Given the description of an element on the screen output the (x, y) to click on. 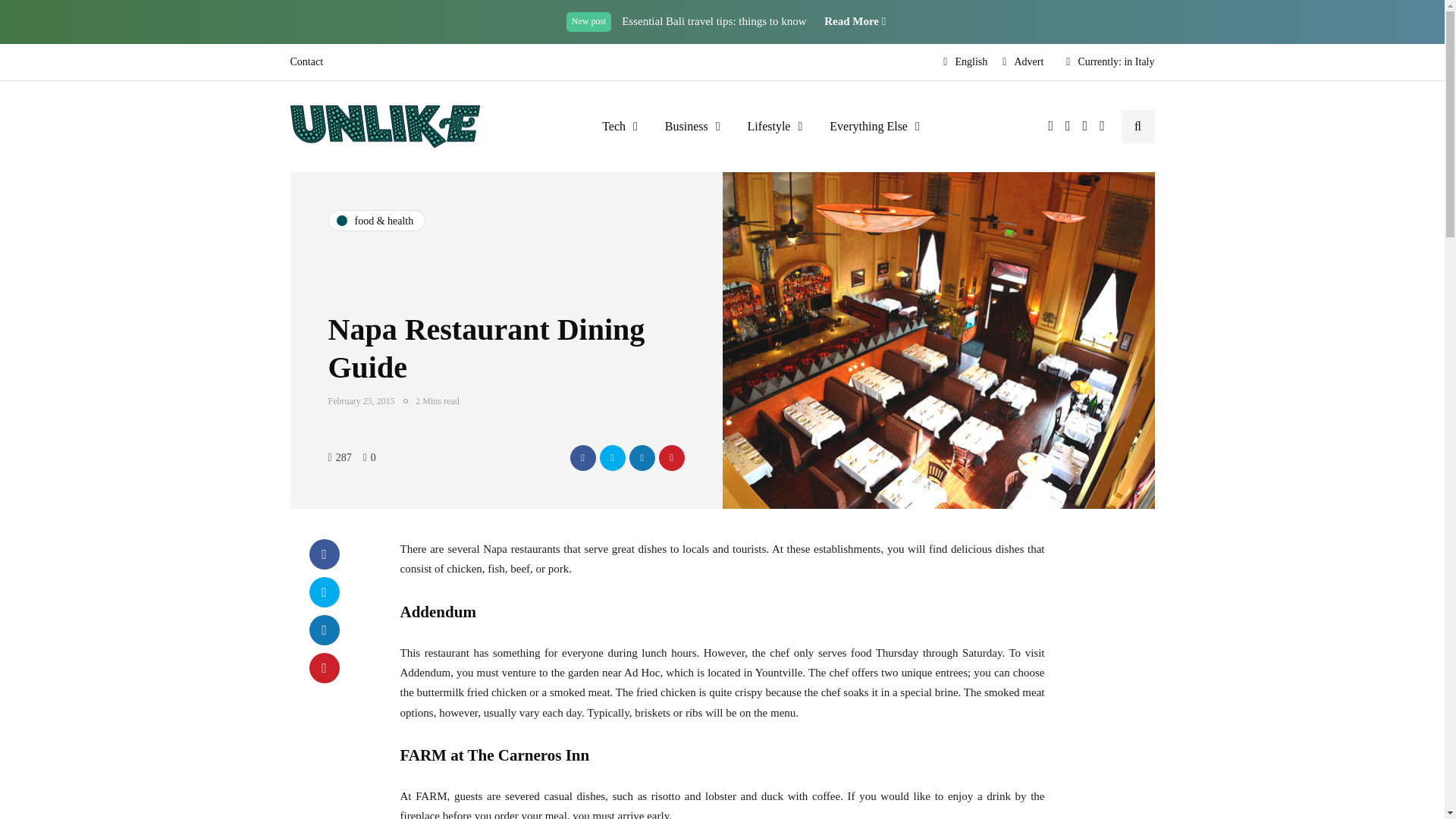
Advert (1022, 62)
Share with LinkedIn (641, 457)
Share with Facebook (323, 553)
Business (691, 126)
Tech (619, 126)
Share with LinkedIn (323, 630)
English (965, 62)
Tweet this (323, 592)
Tweet this (611, 457)
Pin this (323, 667)
Lifestyle (774, 126)
Read More (854, 21)
Contact (309, 62)
Share with Facebook (582, 457)
Everything Else (874, 126)
